Given the description of an element on the screen output the (x, y) to click on. 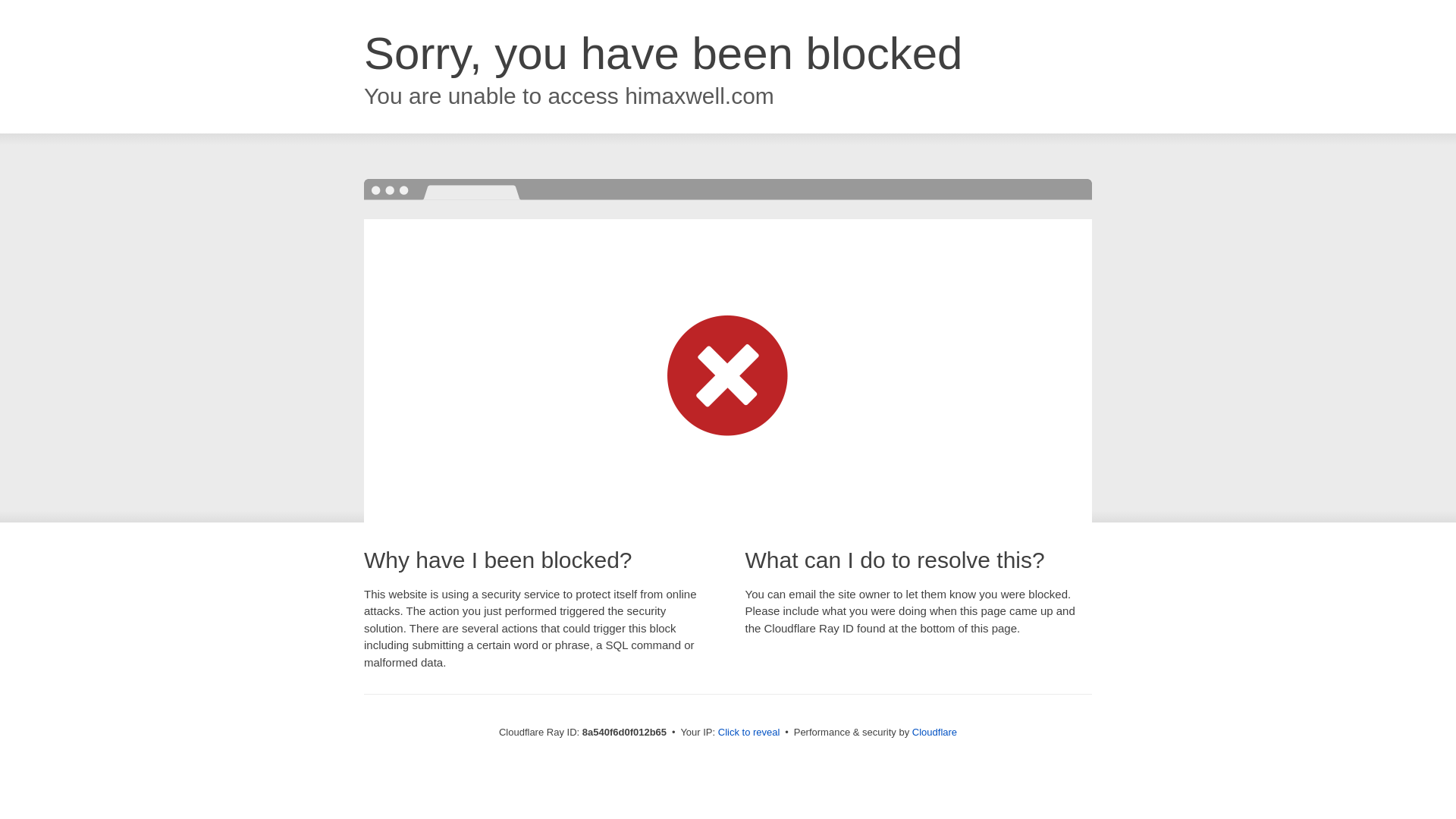
Click to reveal (748, 732)
Cloudflare (934, 731)
